Given the description of an element on the screen output the (x, y) to click on. 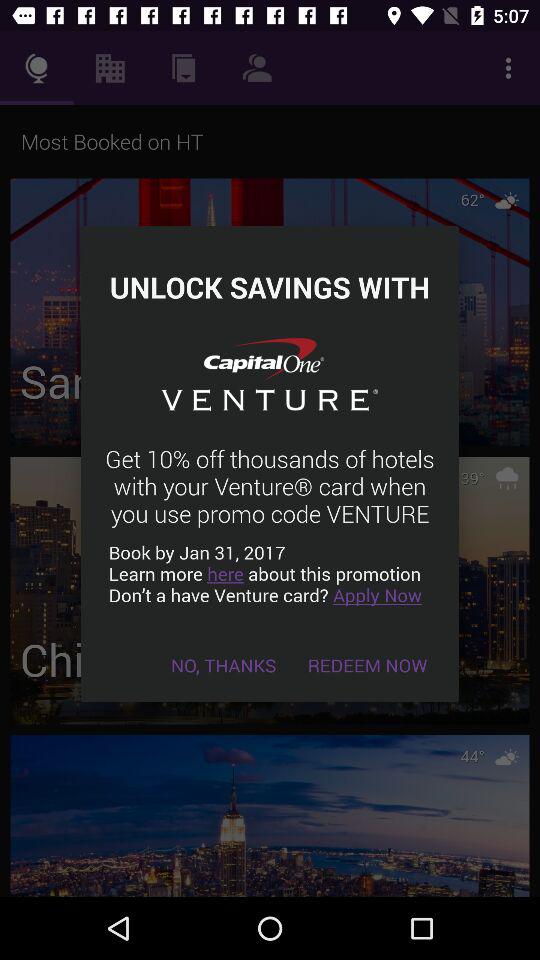
flip to book by jan (269, 573)
